Given the description of an element on the screen output the (x, y) to click on. 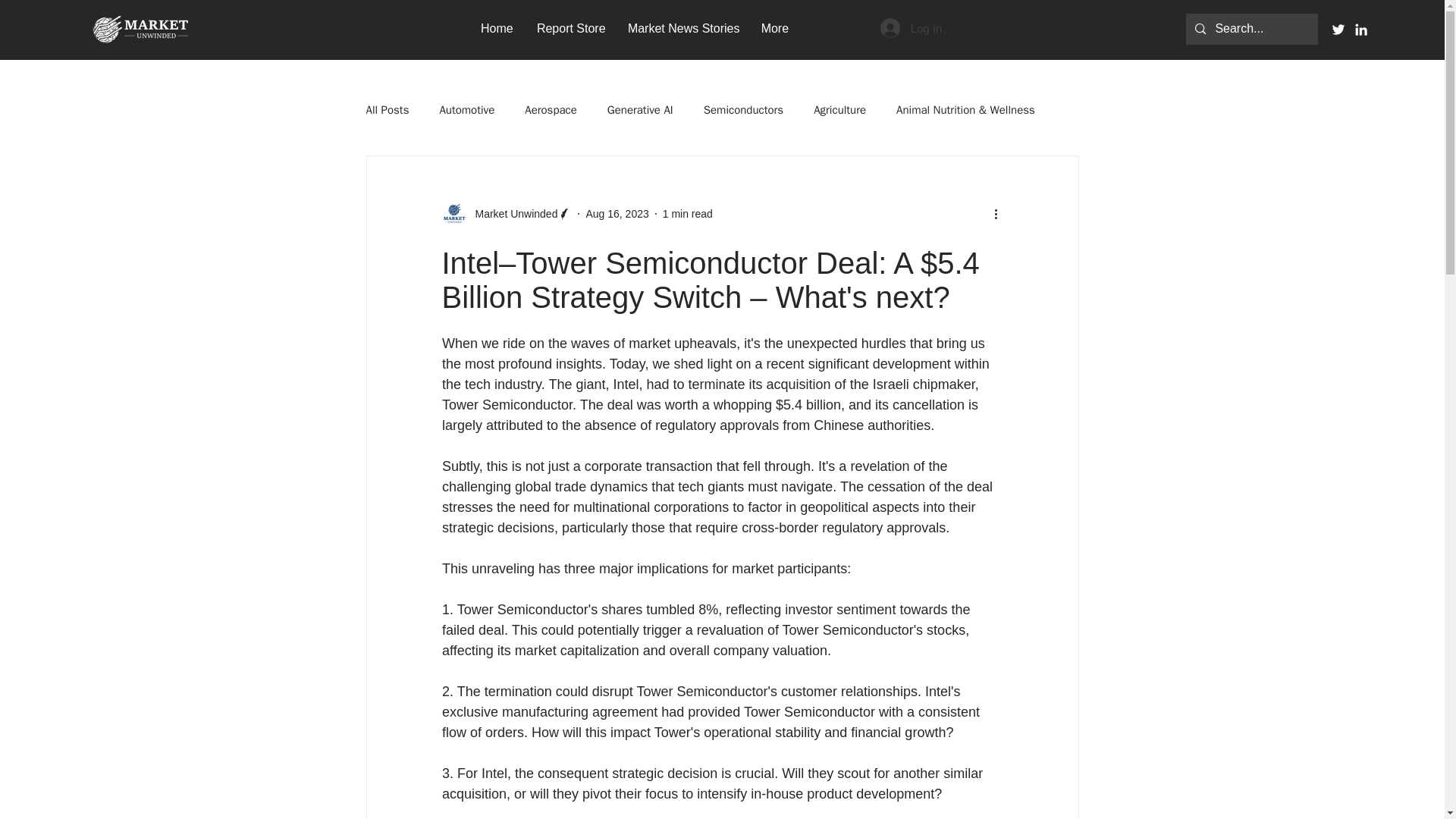
Market Unwinded (511, 213)
Market News Stories (682, 27)
Automotive (467, 110)
1 min read (687, 214)
Market Unwinded (506, 213)
Log In (911, 27)
Market Unwinded Logo.png (140, 29)
Agriculture (839, 110)
Aerospace (550, 110)
All Posts (387, 110)
